Given the description of an element on the screen output the (x, y) to click on. 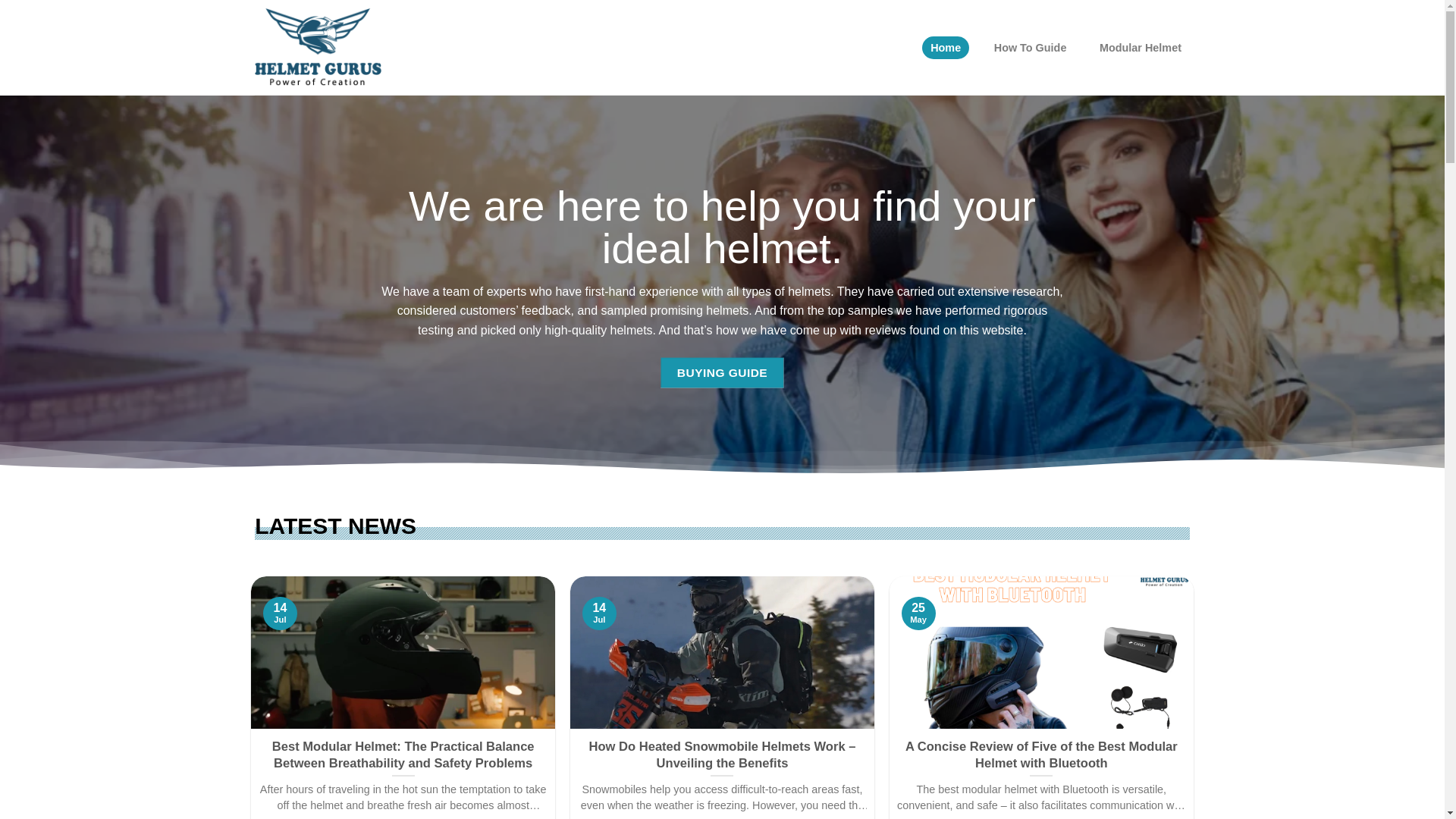
How To Guide (1029, 47)
Helmetgurus.com - News and Buying Guide (330, 47)
Modular Helmet (1139, 47)
BUYING GUIDE (722, 372)
Home (945, 47)
